Given the description of an element on the screen output the (x, y) to click on. 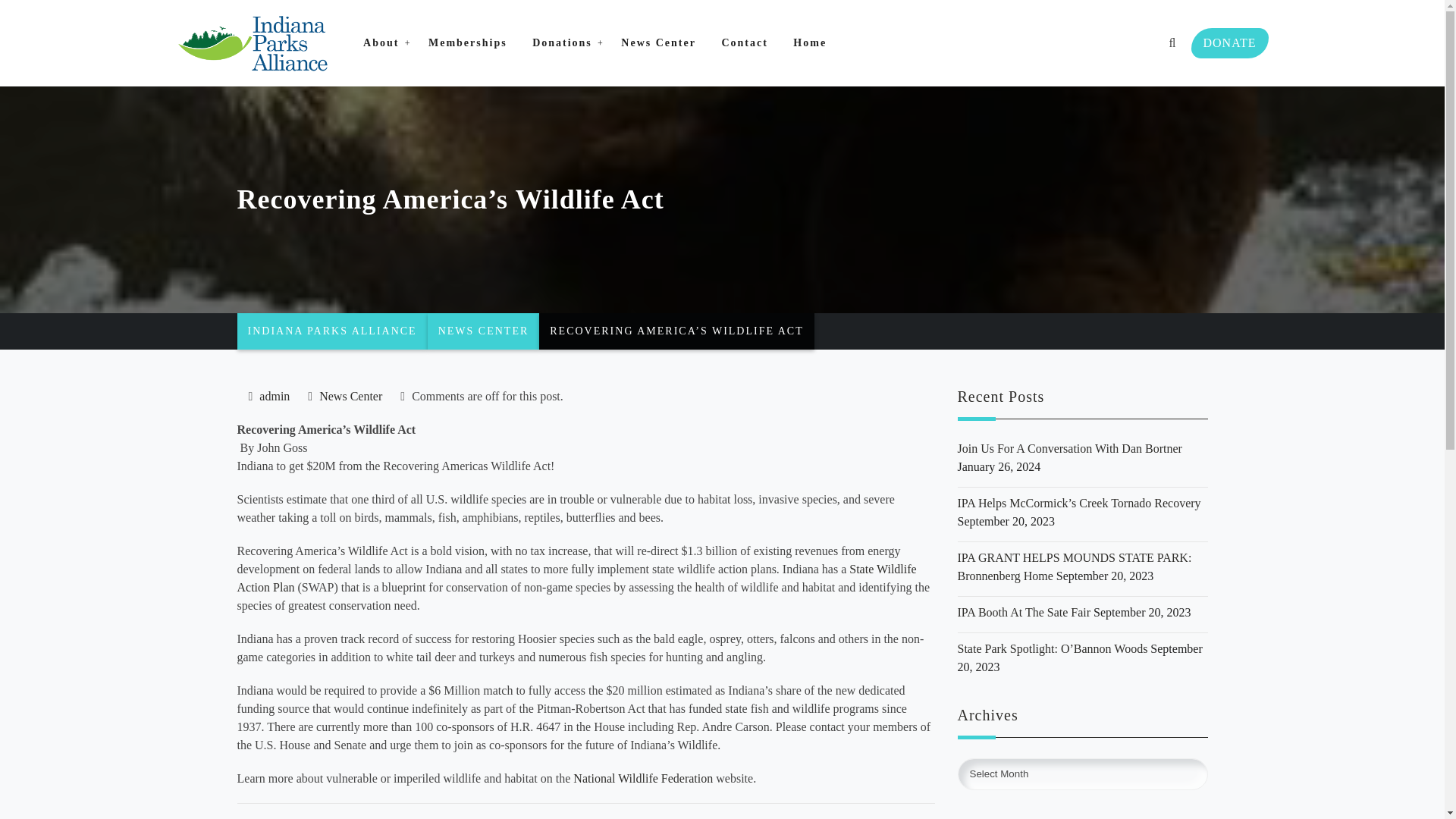
National Wildlife Federation (643, 778)
About (382, 43)
Posts by admin (274, 395)
News Center (349, 395)
DONATE (1229, 42)
Go to Indiana Parks Alliance. (330, 330)
Memberships (467, 43)
Go to the News Center Category archives. (484, 330)
Contact (744, 43)
INDIANA PARKS ALLIANCE (330, 330)
